Given the description of an element on the screen output the (x, y) to click on. 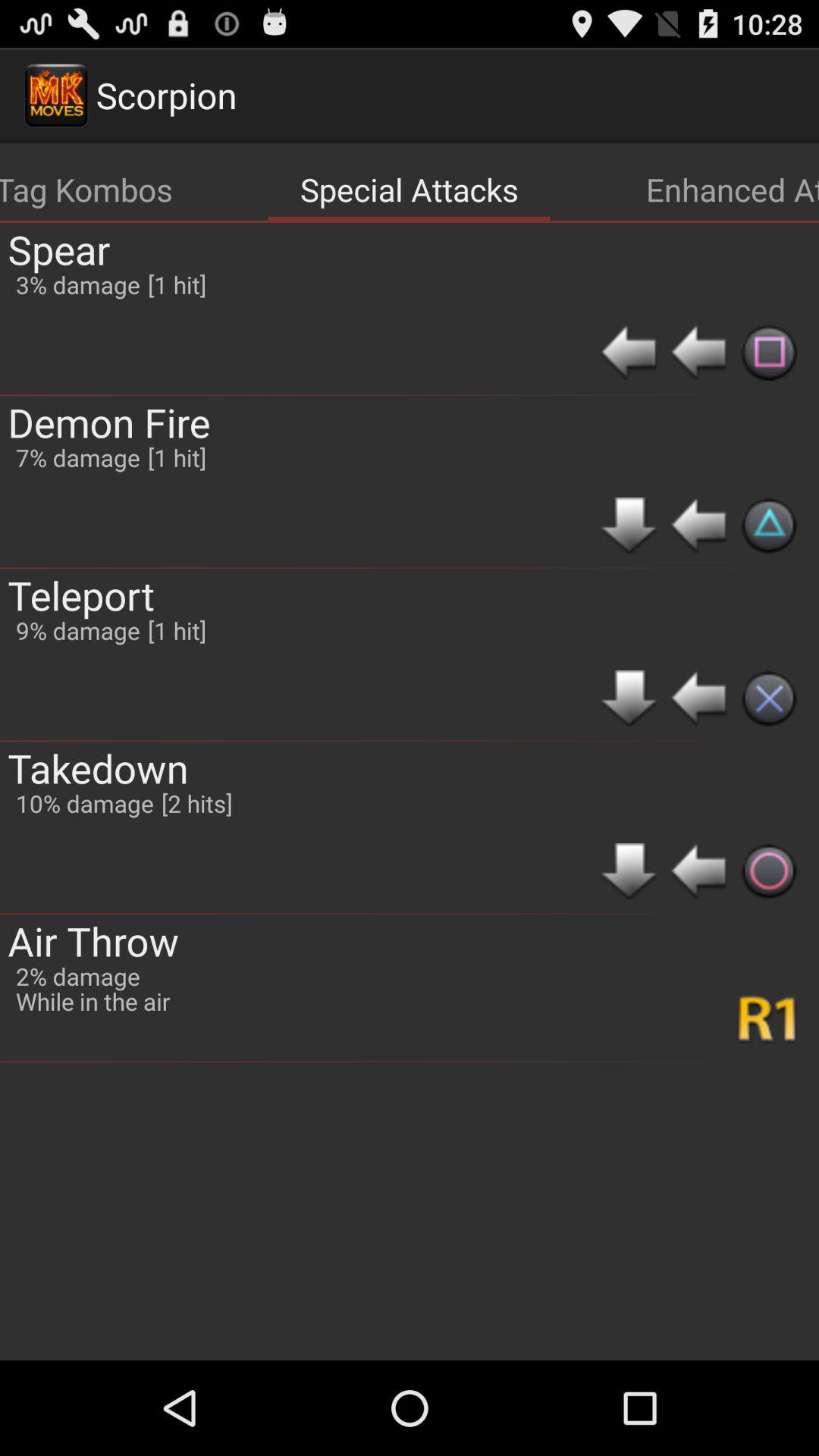
launch the icon below the 9% damage item (84, 803)
